Given the description of an element on the screen output the (x, y) to click on. 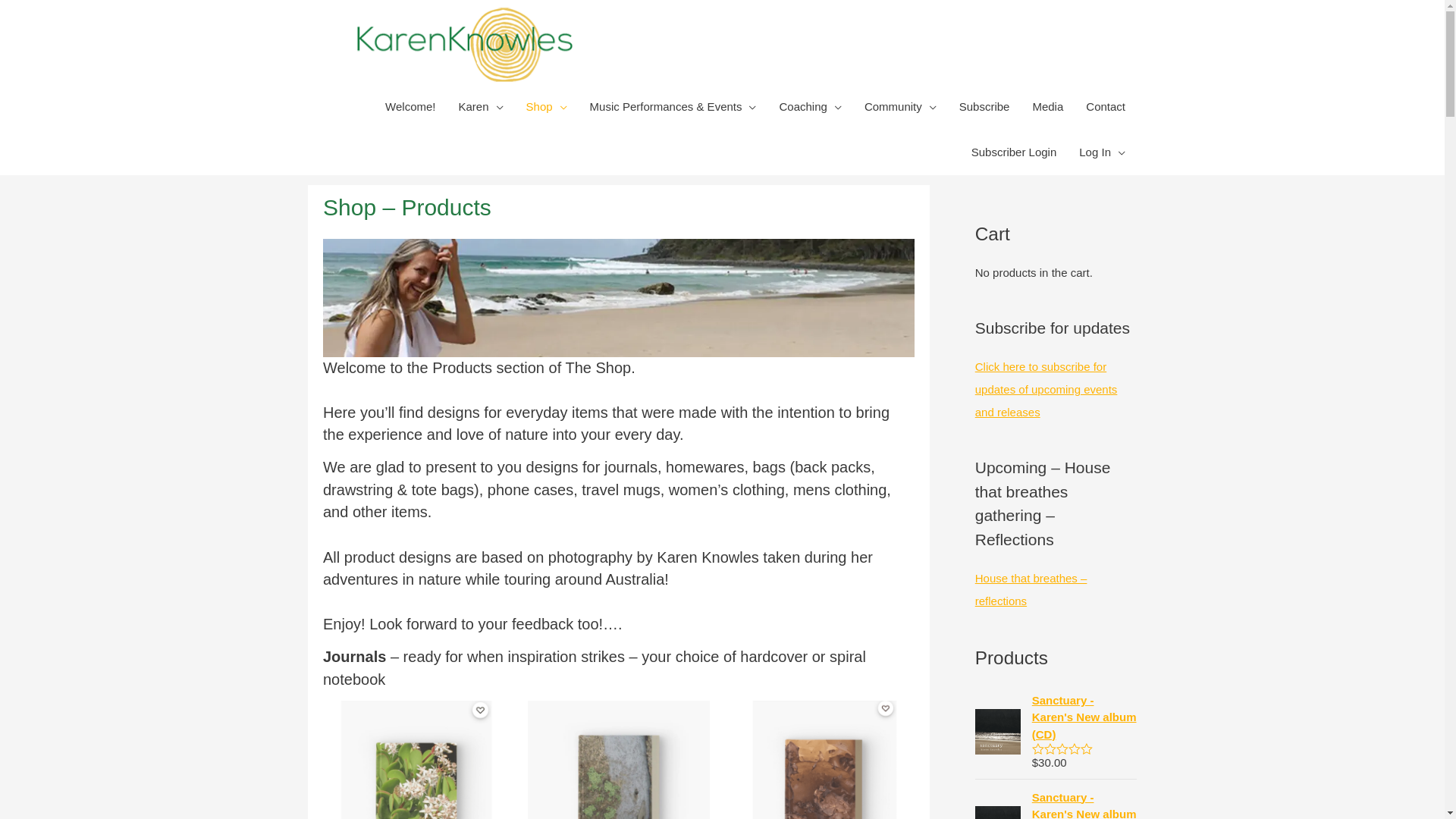
Media Element type: text (1047, 106)
Welcome! Element type: text (409, 106)
Music Performances & Events Element type: text (673, 106)
Shop Element type: text (546, 106)
Subscribe Element type: text (984, 106)
Community Element type: text (900, 106)
Coaching Element type: text (809, 106)
Karen Element type: text (480, 106)
Log In Element type: text (1101, 152)
Subscriber Login Element type: text (1014, 152)
Sanctuary - Karen's New album (CD) Element type: text (1084, 717)
Contact Element type: text (1105, 106)
